Given the description of an element on the screen output the (x, y) to click on. 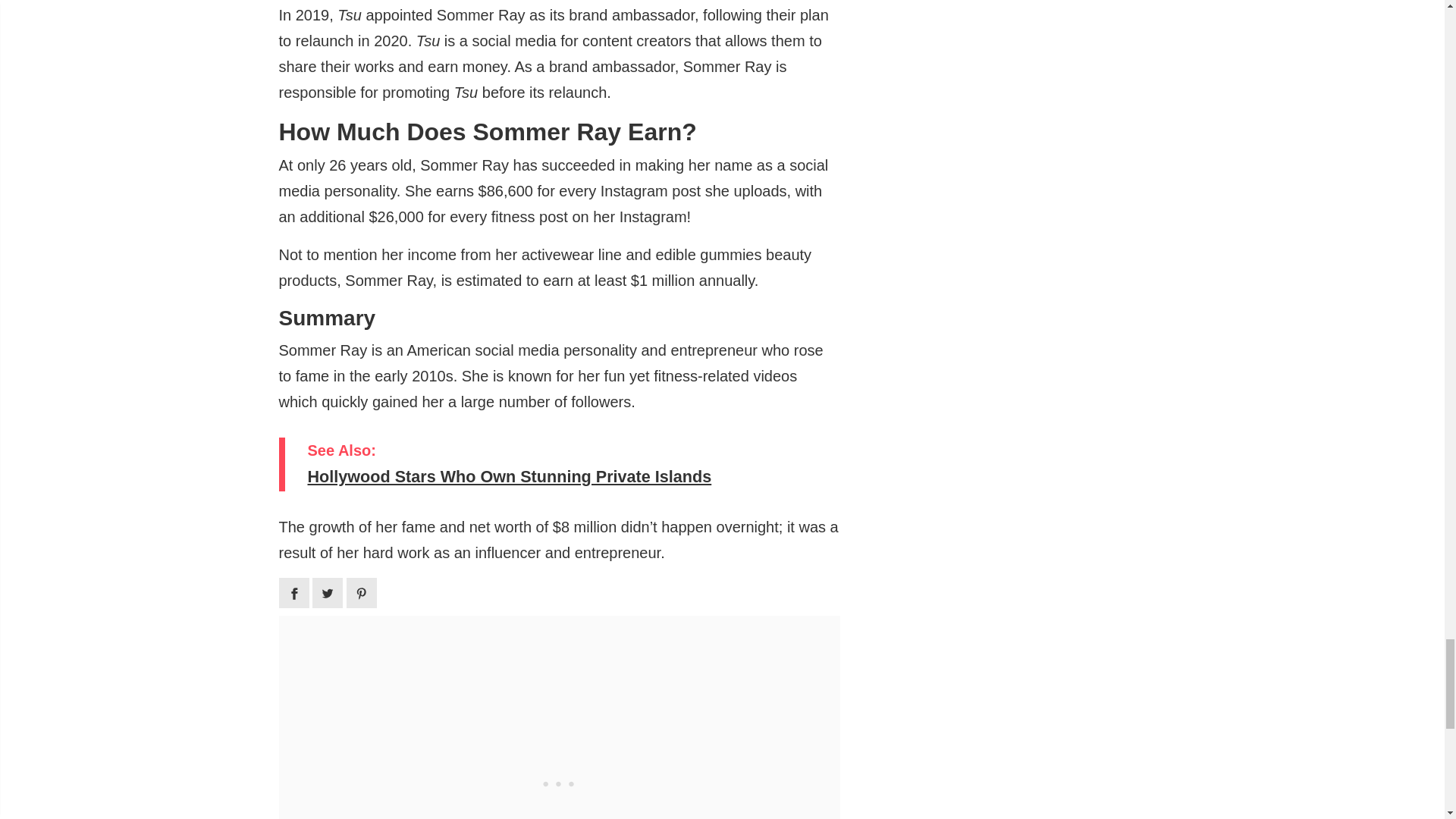
Hollywood Stars Who Own Stunning Private Islands (561, 477)
